Given the description of an element on the screen output the (x, y) to click on. 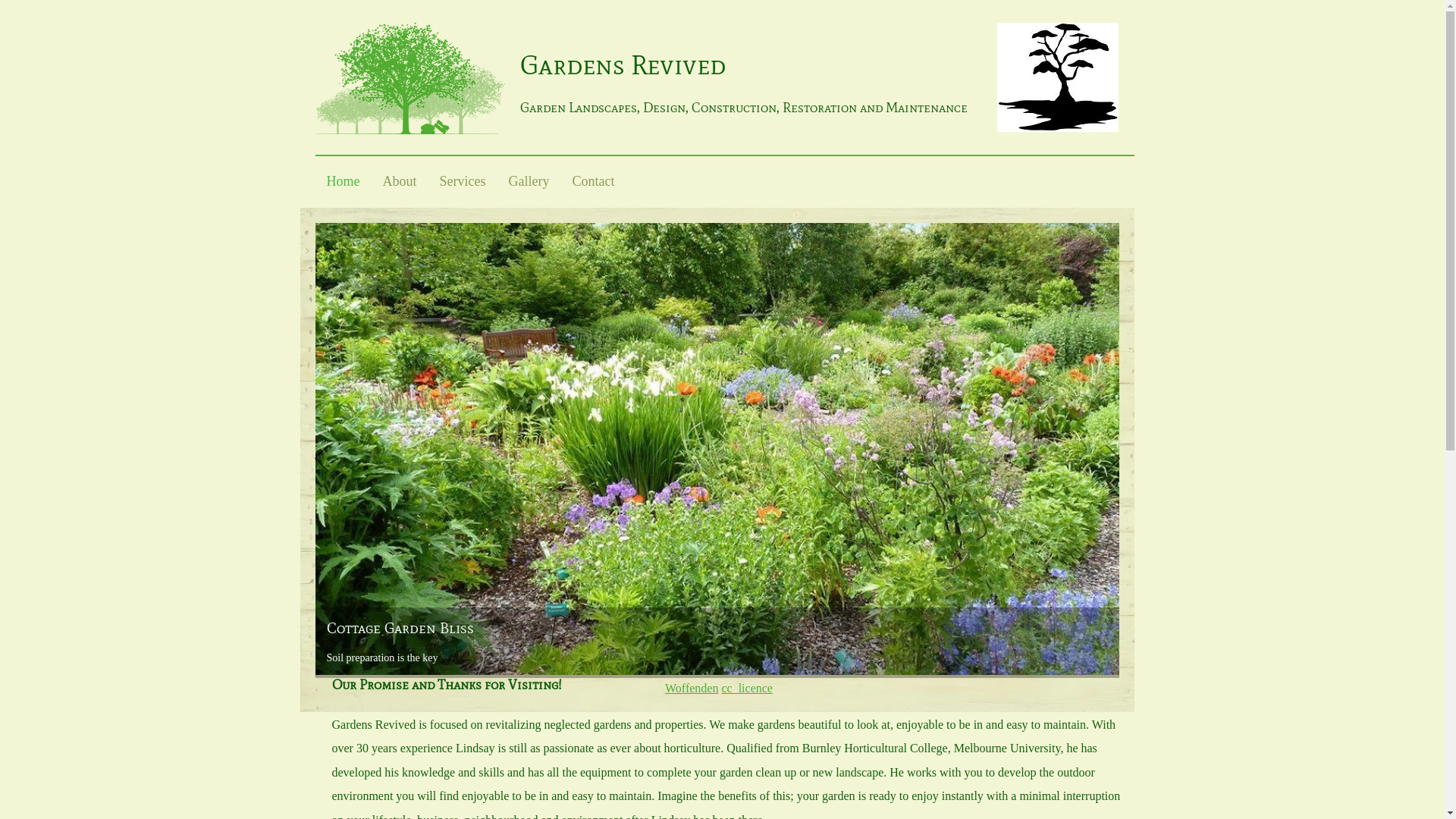
Contact Element type: text (592, 180)
Services Element type: text (461, 180)
Home Element type: text (343, 180)
About Element type: text (399, 180)
Gallery Element type: text (528, 180)
